Given the description of an element on the screen output the (x, y) to click on. 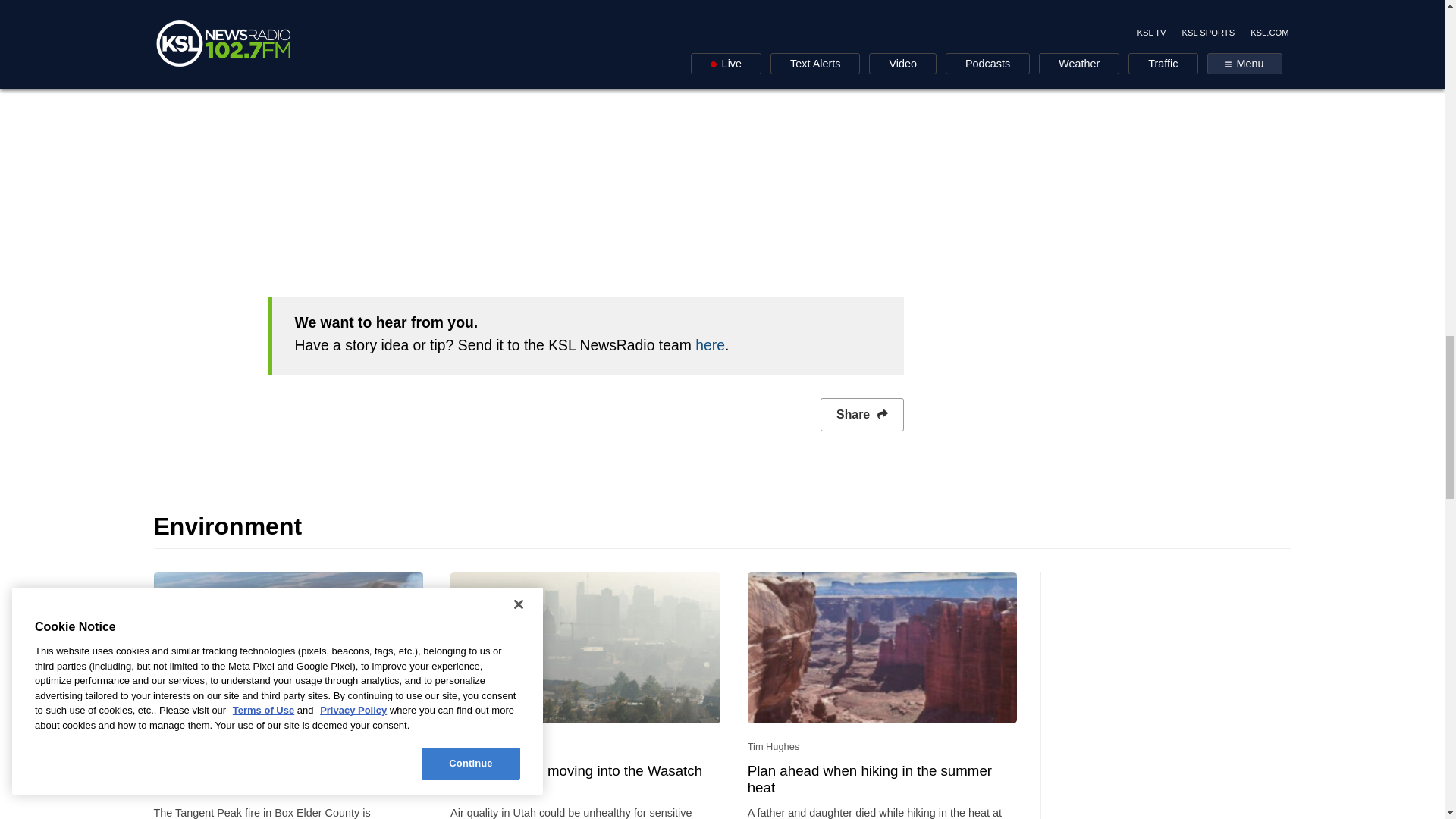
Signup Widget Embed (584, 179)
